Given the description of an element on the screen output the (x, y) to click on. 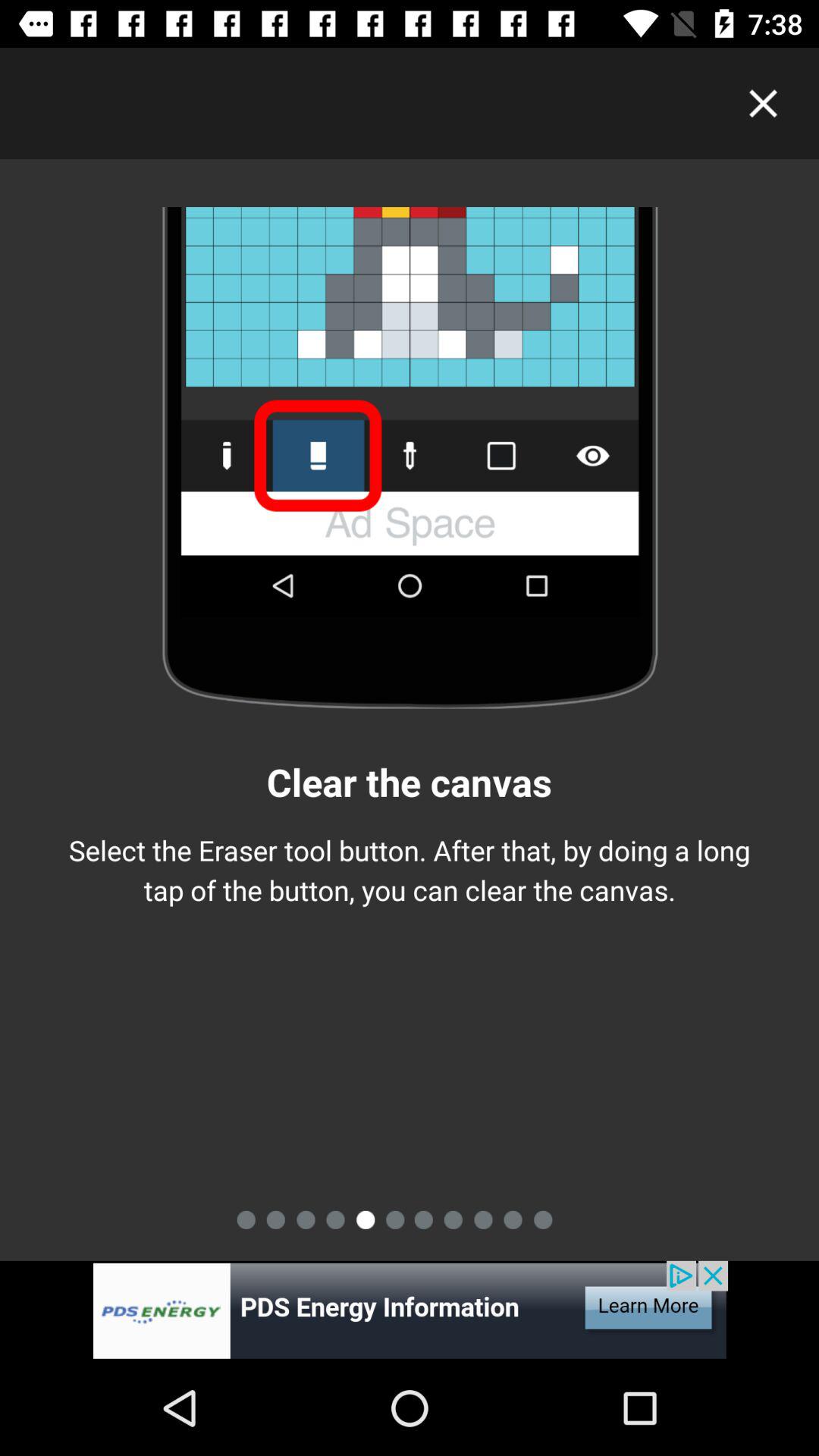
clock (763, 103)
